Given the description of an element on the screen output the (x, y) to click on. 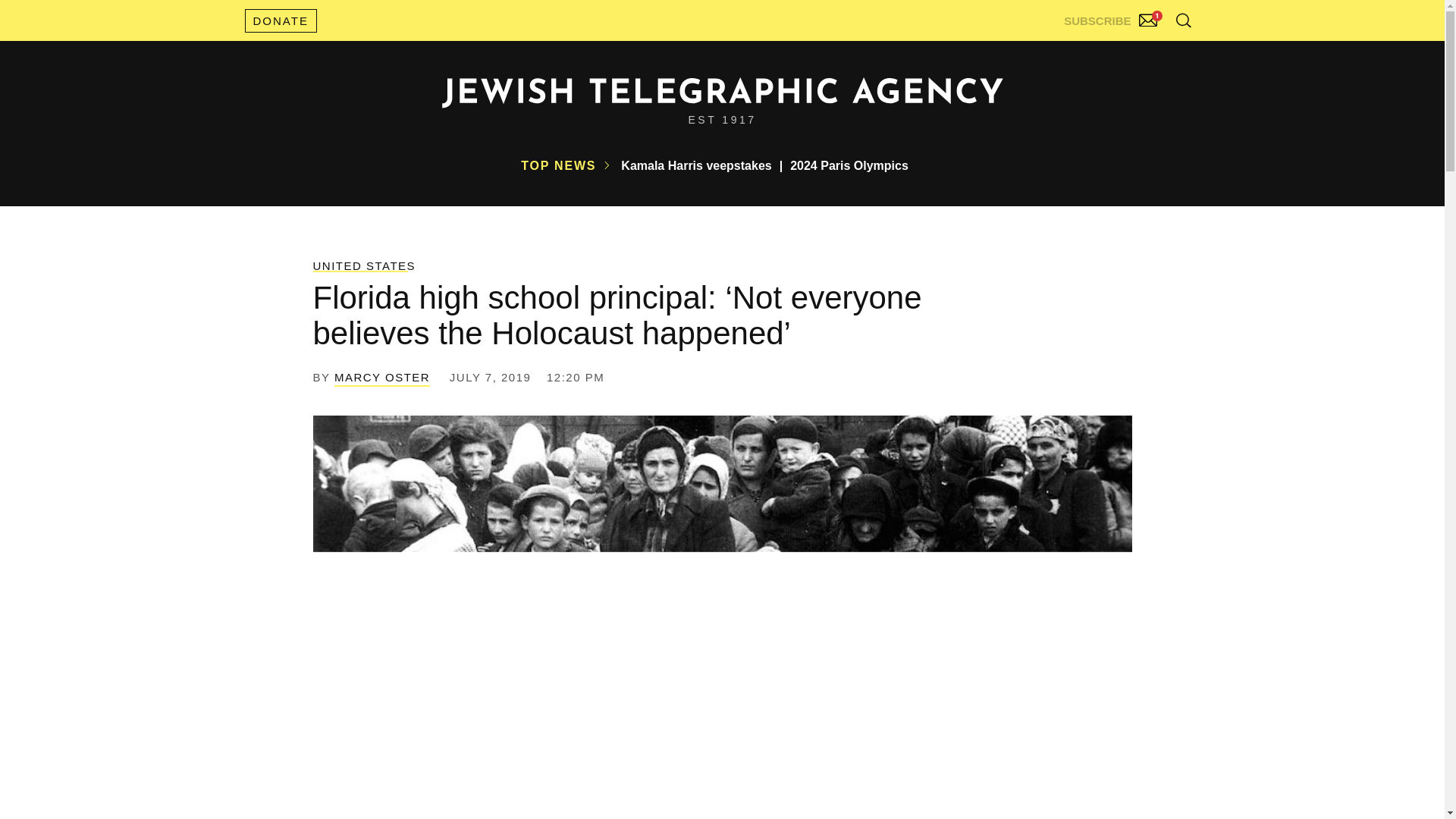
Search (1144, 53)
SEARCH TOGGLESEARCH TOGGLE (1182, 20)
SUBSCRIBE (1112, 17)
DONATE (279, 20)
